Given the description of an element on the screen output the (x, y) to click on. 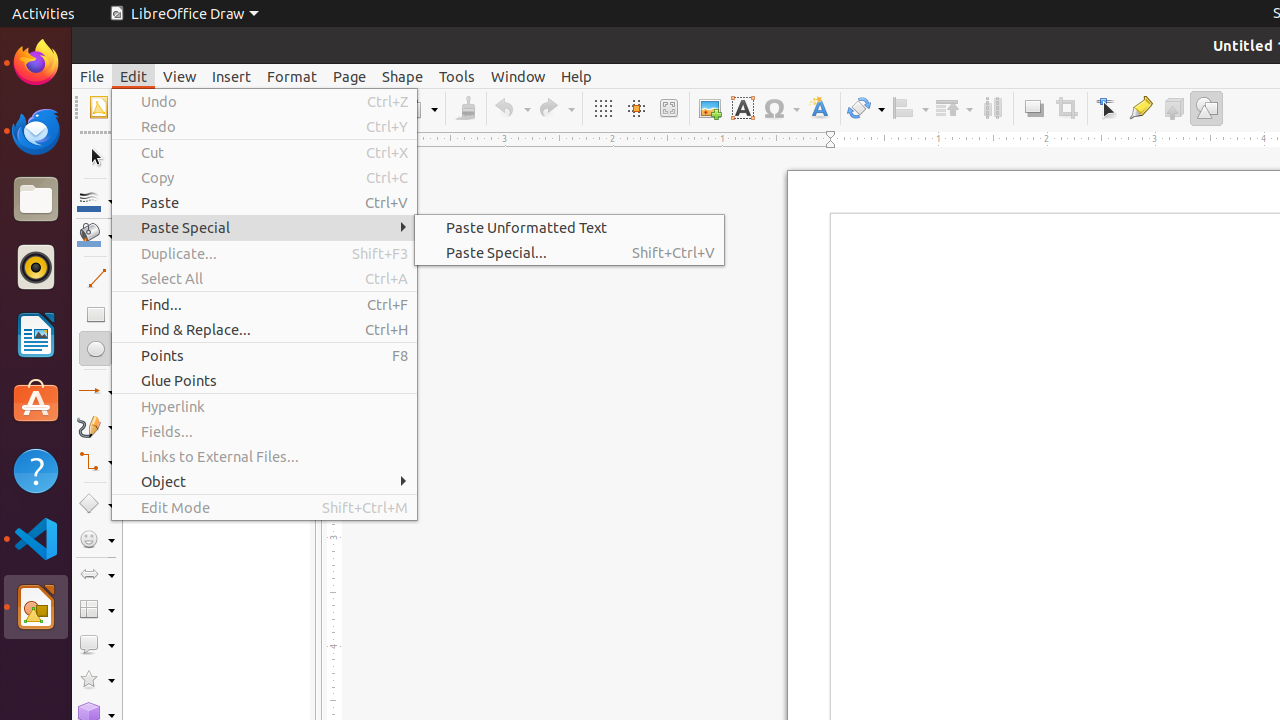
Find & Replace... Element type: menu-item (264, 329)
Paste Special Element type: menu (264, 227)
Duplicate... Element type: menu-item (264, 253)
Fontwork Style Element type: toggle-button (819, 108)
Page Element type: menu (349, 76)
